Given the description of an element on the screen output the (x, y) to click on. 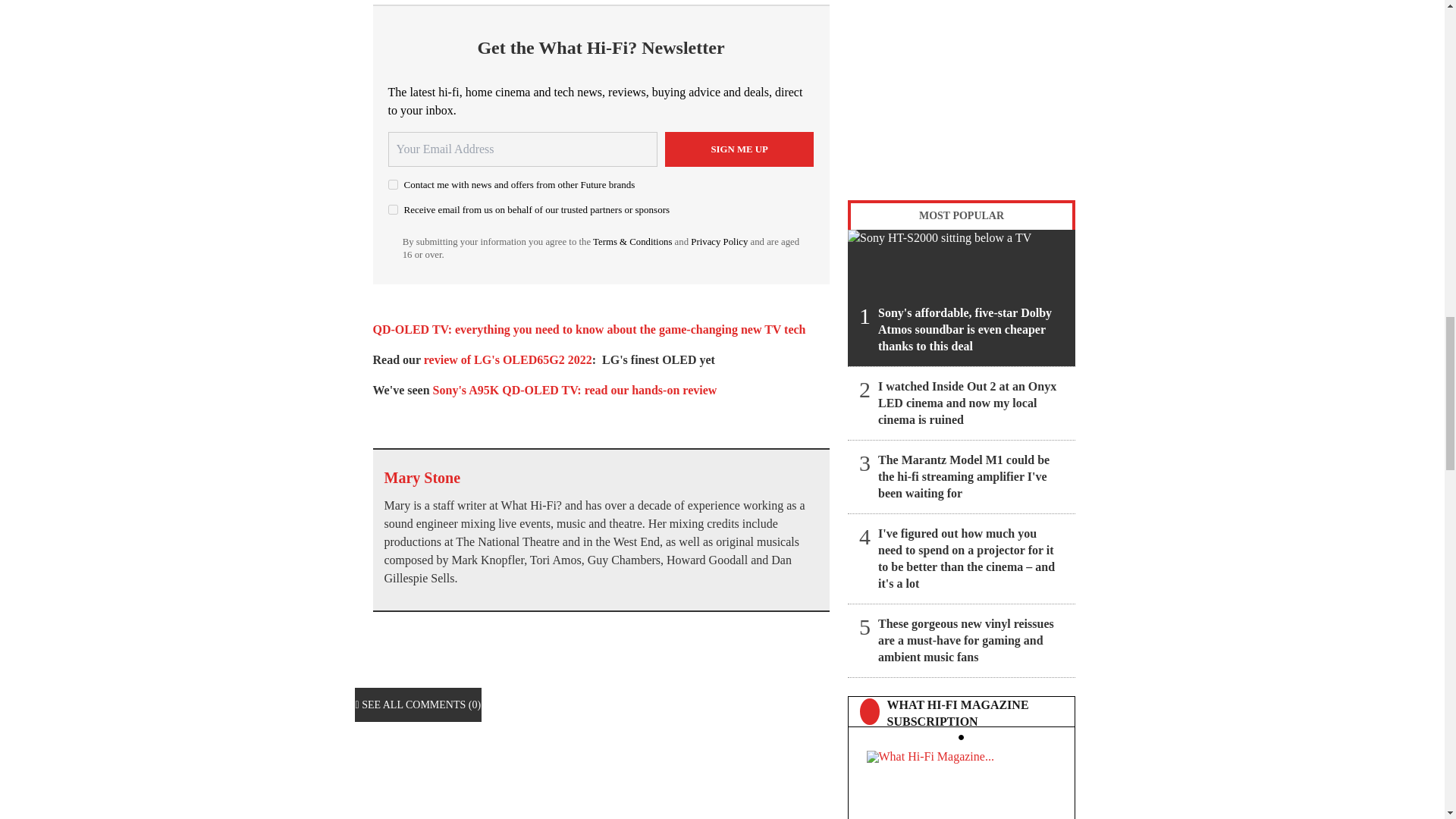
Sign me up (739, 149)
What Hi-Fi Magazine... (960, 780)
on (392, 184)
on (392, 209)
